Given the description of an element on the screen output the (x, y) to click on. 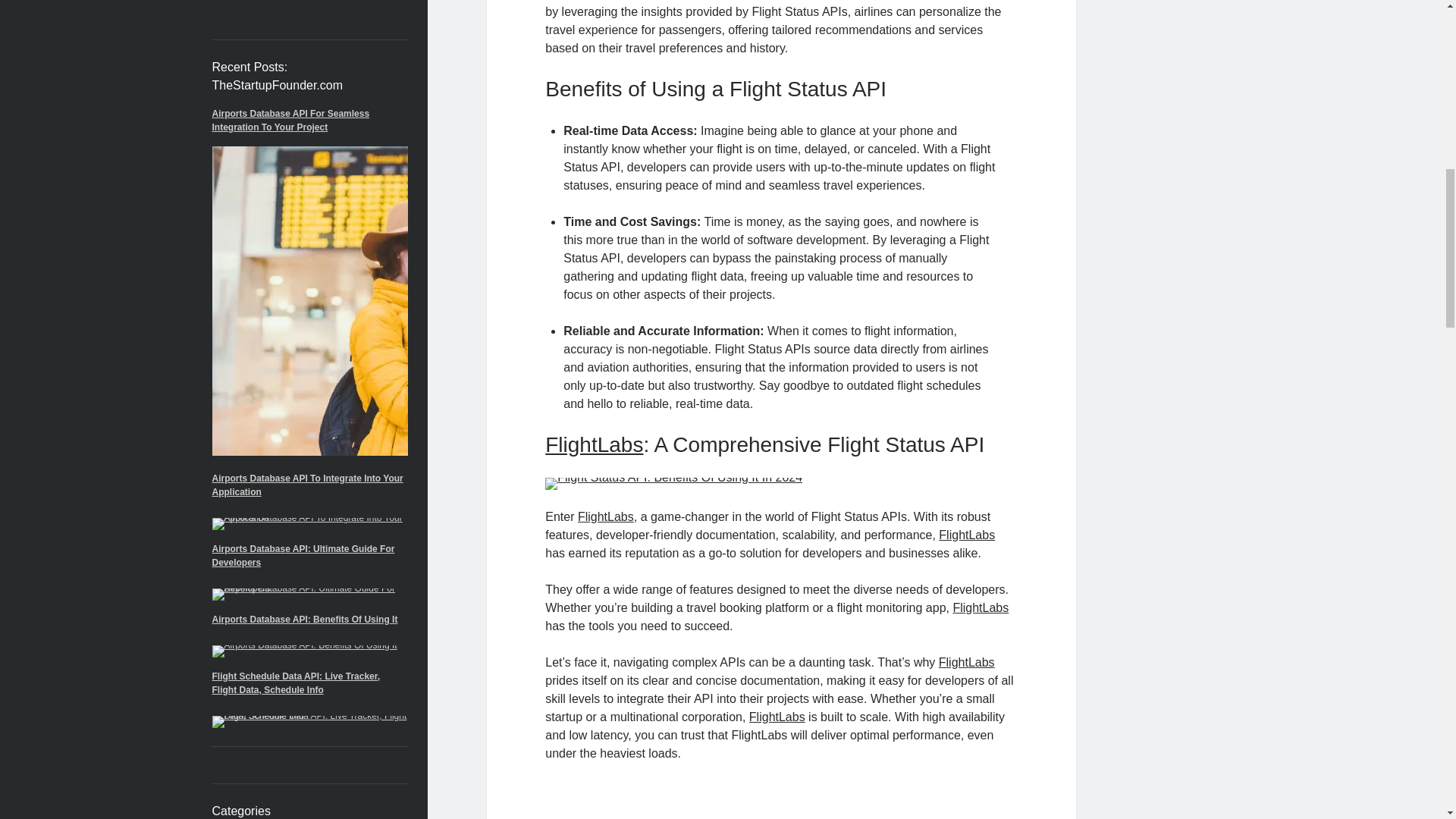
Airports Database API To Integrate Into Your Application (307, 485)
Airports Database API: Benefits Of Using It (304, 619)
Airports Database API: Ultimate Guide For Developers (303, 555)
